Given the description of an element on the screen output the (x, y) to click on. 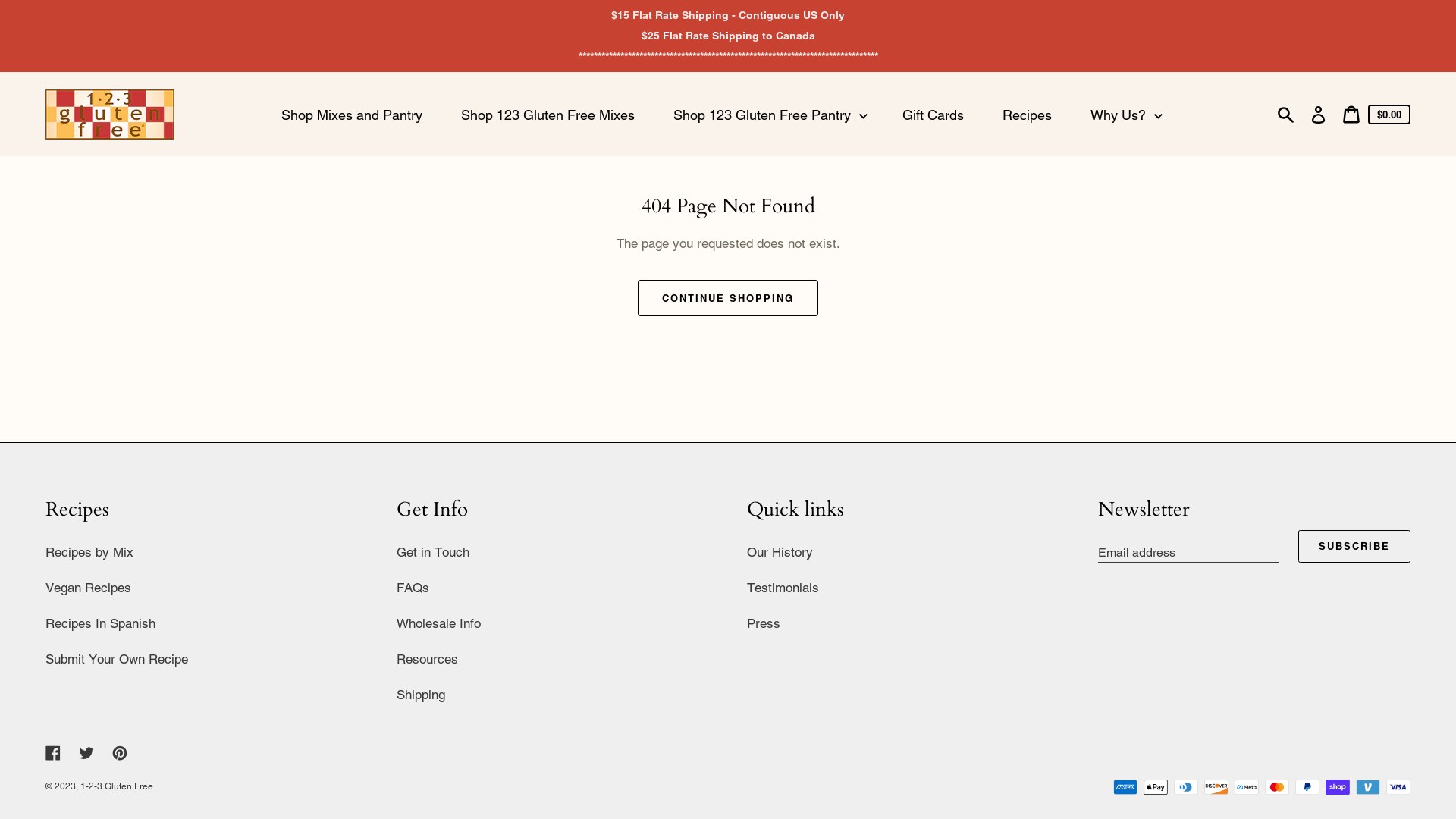
Log in Element type: text (1318, 114)
Submit Your Own Recipe Element type: text (116, 658)
Facebook Element type: text (52, 751)
Get in Touch Element type: text (431, 551)
Our History Element type: text (779, 551)
Vegan Recipes Element type: text (88, 587)
Shop 123 Gluten Free Mixes Element type: text (549, 114)
Resources Element type: text (426, 658)
Testimonials Element type: text (782, 587)
Pinterest Element type: text (119, 751)
Twitter Element type: text (86, 751)
1-2-3 Gluten Free Element type: text (116, 786)
Shop Mixes and Pantry Element type: text (353, 114)
SUBSCRIBE Element type: text (1354, 546)
Recipes In Spanish Element type: text (100, 622)
Shop 123 Gluten Free Pantry Element type: text (770, 114)
Gift Cards Element type: text (934, 114)
Recipes Element type: text (1028, 114)
Shipping Element type: text (419, 694)
CONTINUE SHOPPING Element type: text (727, 297)
Cart Element type: text (1351, 114)
Press Element type: text (763, 622)
Wholesale Info Element type: text (437, 622)
FAQs Element type: text (411, 587)
Search Element type: text (1285, 114)
Why Us? Element type: text (1126, 114)
Recipes by Mix Element type: text (89, 551)
